Given the description of an element on the screen output the (x, y) to click on. 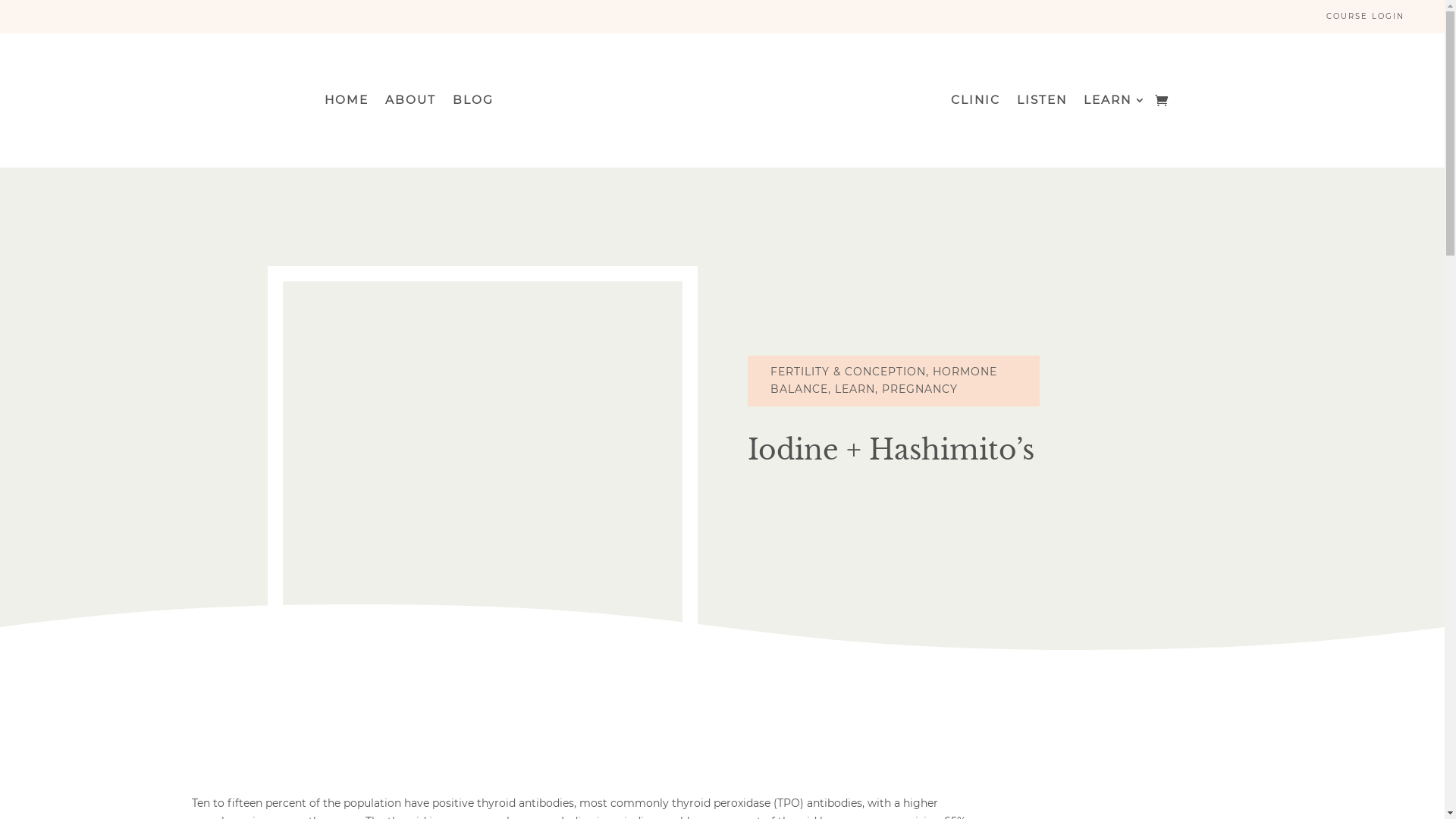
FERTILITY & CONCEPTION Element type: text (847, 371)
PREGNANCY Element type: text (919, 388)
HORMONE BALANCE Element type: text (883, 380)
pexels-photo-1330724 Element type: hover (481, 480)
LEARN Element type: text (854, 388)
Logo 1 Element type: hover (721, 92)
HOME Element type: text (346, 102)
LISTEN Element type: text (1041, 102)
CLINIC Element type: text (975, 102)
COURSE LOGIN  Element type: text (1367, 16)
BLOG Element type: text (472, 102)
LEARN Element type: text (1114, 102)
ABOUT Element type: text (410, 102)
